Given the description of an element on the screen output the (x, y) to click on. 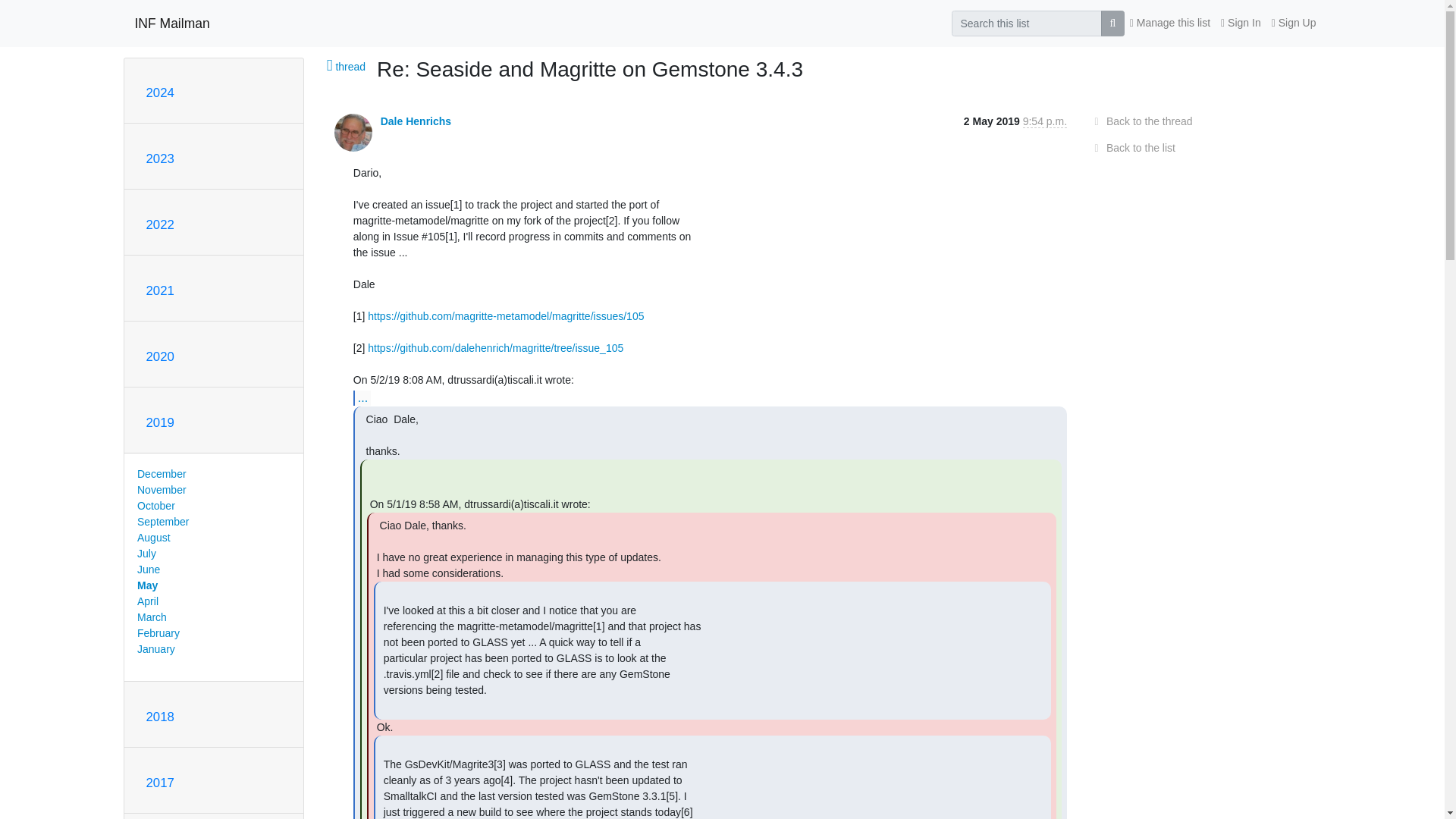
2022 (159, 224)
2023 (159, 158)
INF Mailman (172, 22)
2024 (159, 92)
Manage this list (1169, 22)
See the profile for Dale Henrichs (415, 121)
Sender's time: May 2, 2019, 12:54 p.m. (1045, 121)
Sign Up (1294, 22)
Sign In (1240, 22)
